Given the description of an element on the screen output the (x, y) to click on. 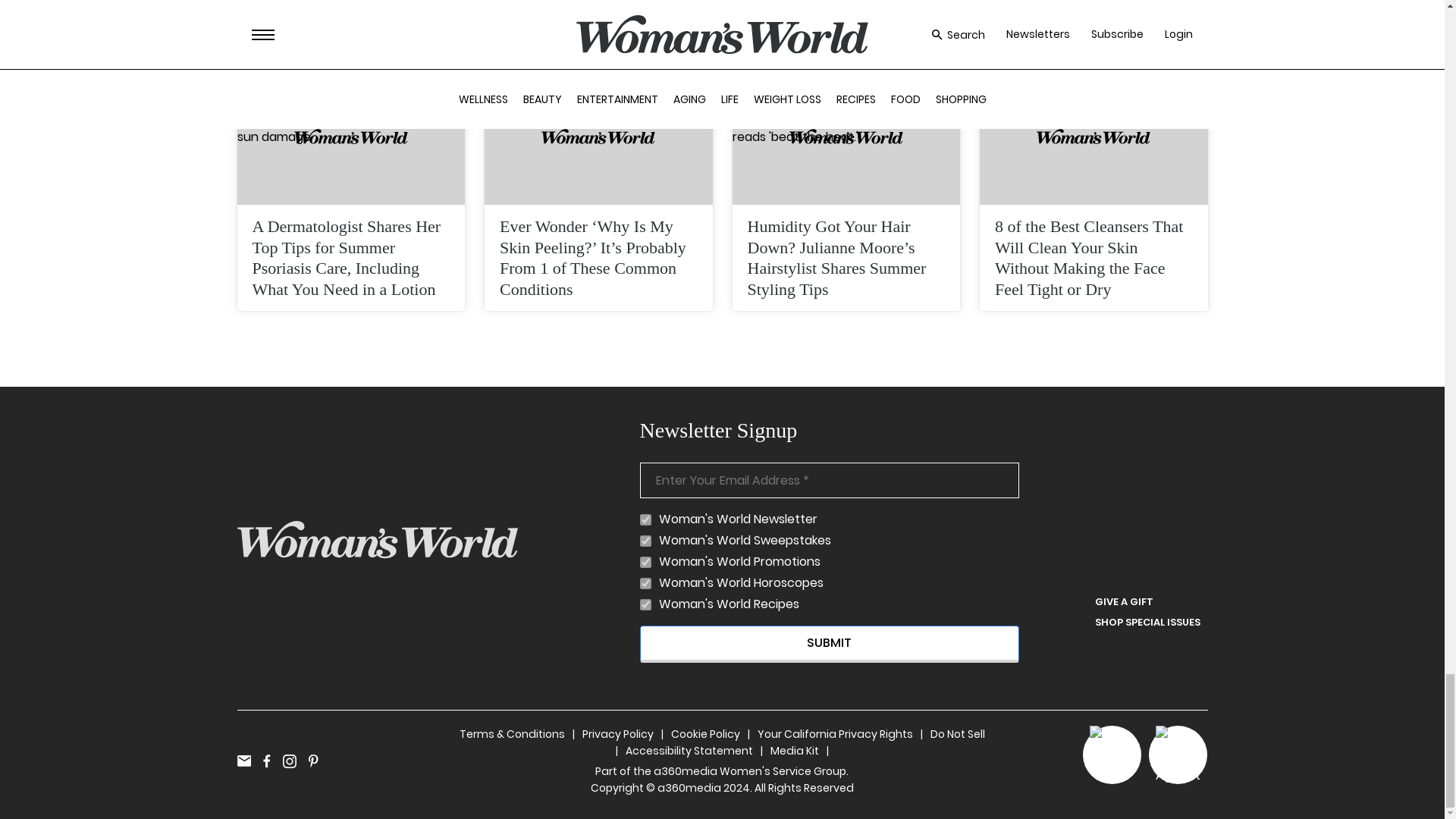
1 (645, 541)
1 (645, 562)
1 (645, 583)
1 (645, 519)
1 (645, 604)
